Given the description of an element on the screen output the (x, y) to click on. 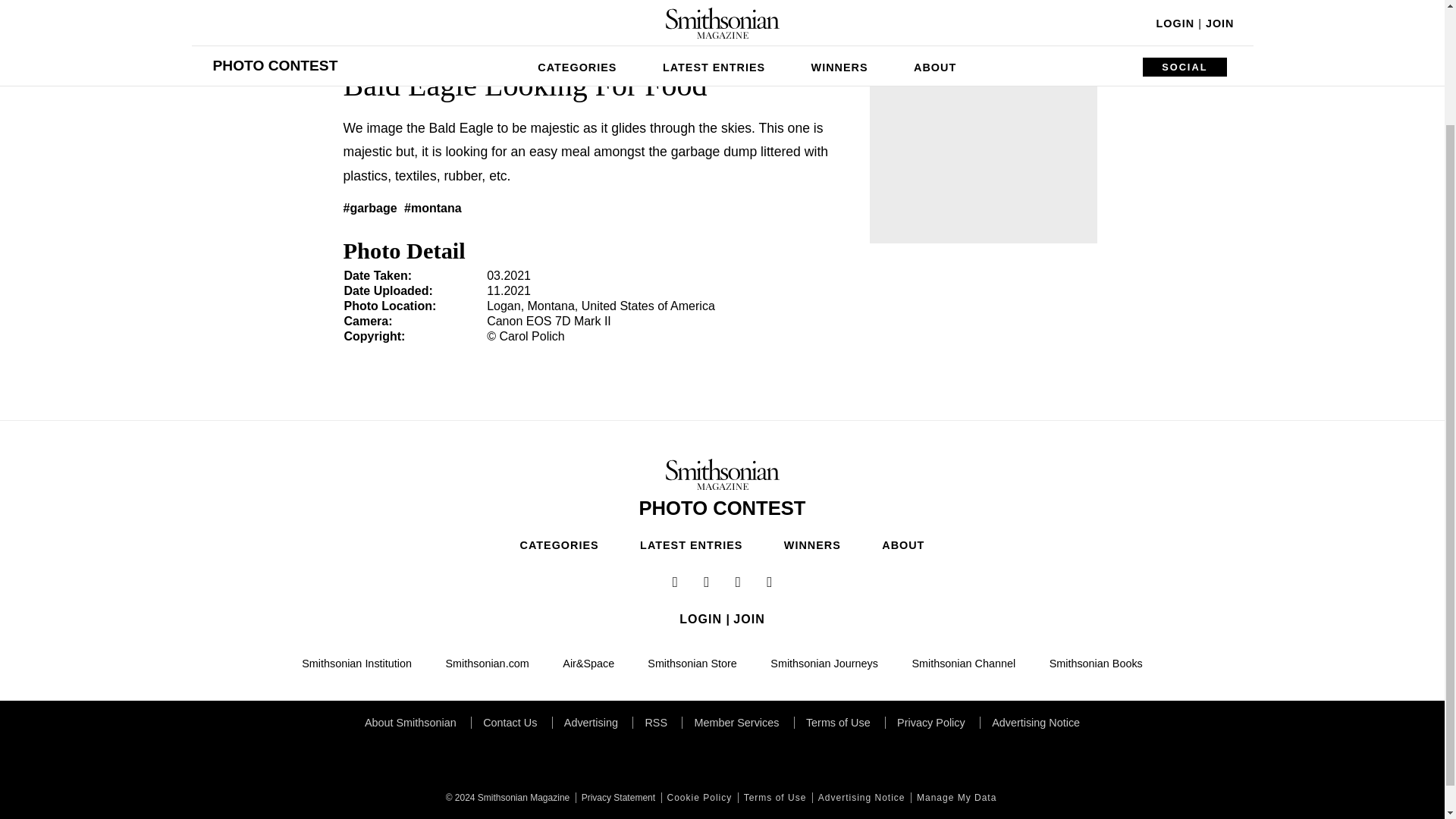
Cookie Policy (698, 797)
Privacy Statement (616, 797)
Manage My Data (954, 797)
Advertising Notice (859, 797)
Terms of Use (773, 797)
